Given the description of an element on the screen output the (x, y) to click on. 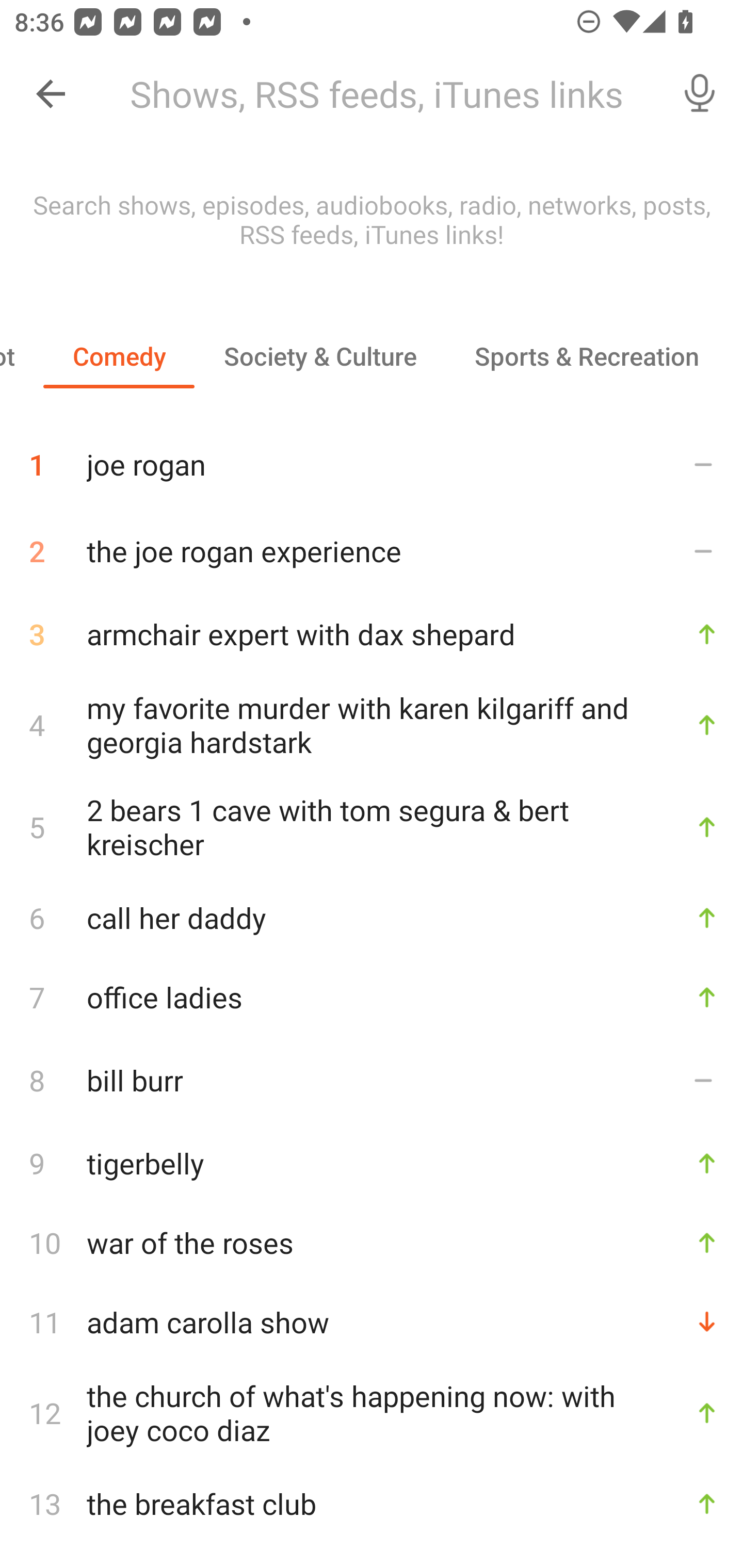
Collapse (50, 93)
Voice Search (699, 93)
Shows, RSS feeds, iTunes links (385, 94)
Comedy (118, 355)
Society & Culture (319, 355)
Sports & Recreation (586, 355)
1 joe rogan (371, 457)
2 the joe rogan experience (371, 551)
3 armchair expert with dax shepard (371, 634)
5 2 bears 1 cave with tom segura & bert kreischer (371, 827)
6 call her daddy (371, 918)
7 office ladies (371, 997)
8 bill burr (371, 1079)
9 tigerbelly (371, 1162)
10 war of the roses (371, 1242)
11 adam carolla show (371, 1321)
13 the breakfast club (371, 1503)
